Given the description of an element on the screen output the (x, y) to click on. 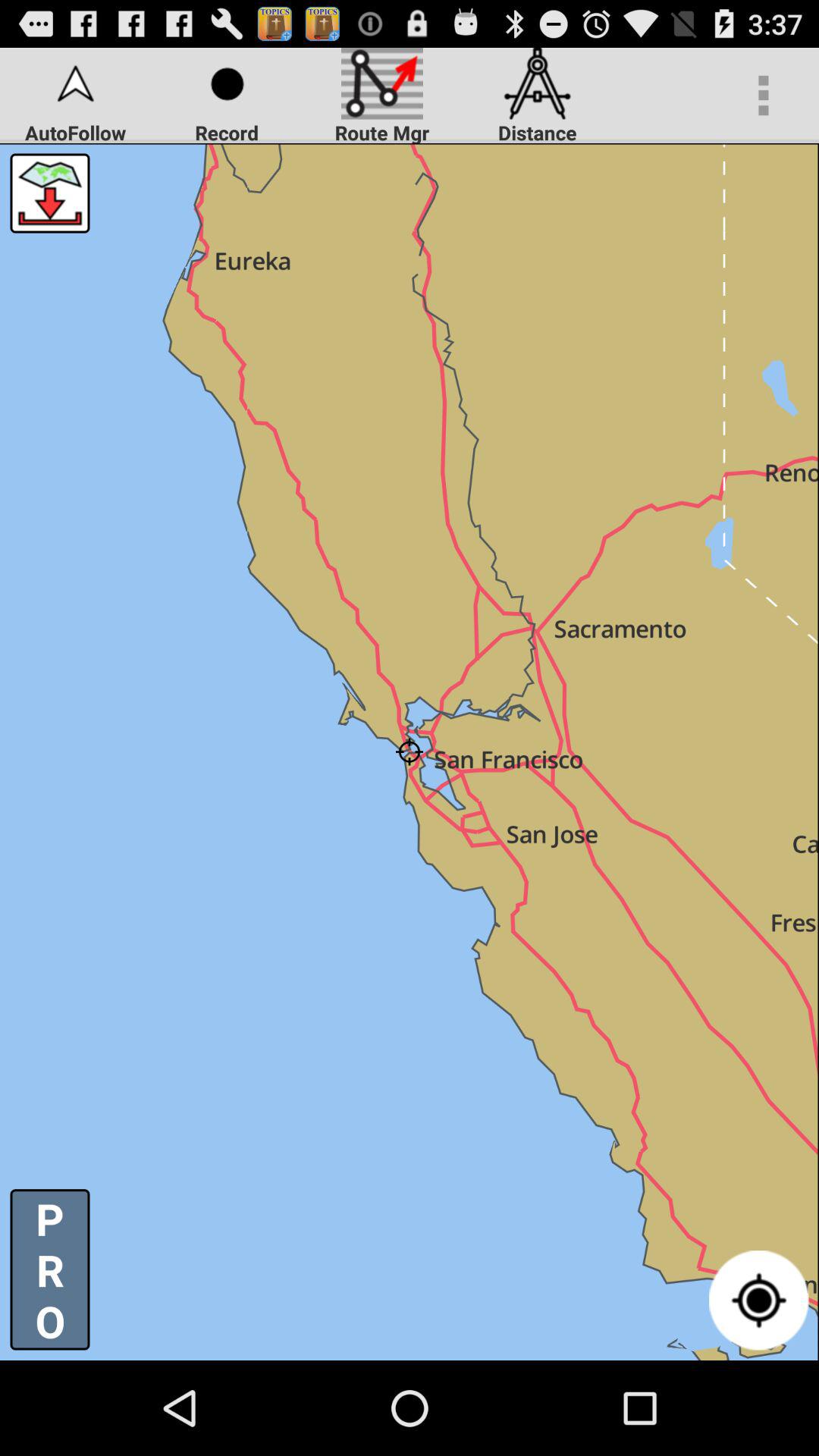
go down (49, 193)
